Given the description of an element on the screen output the (x, y) to click on. 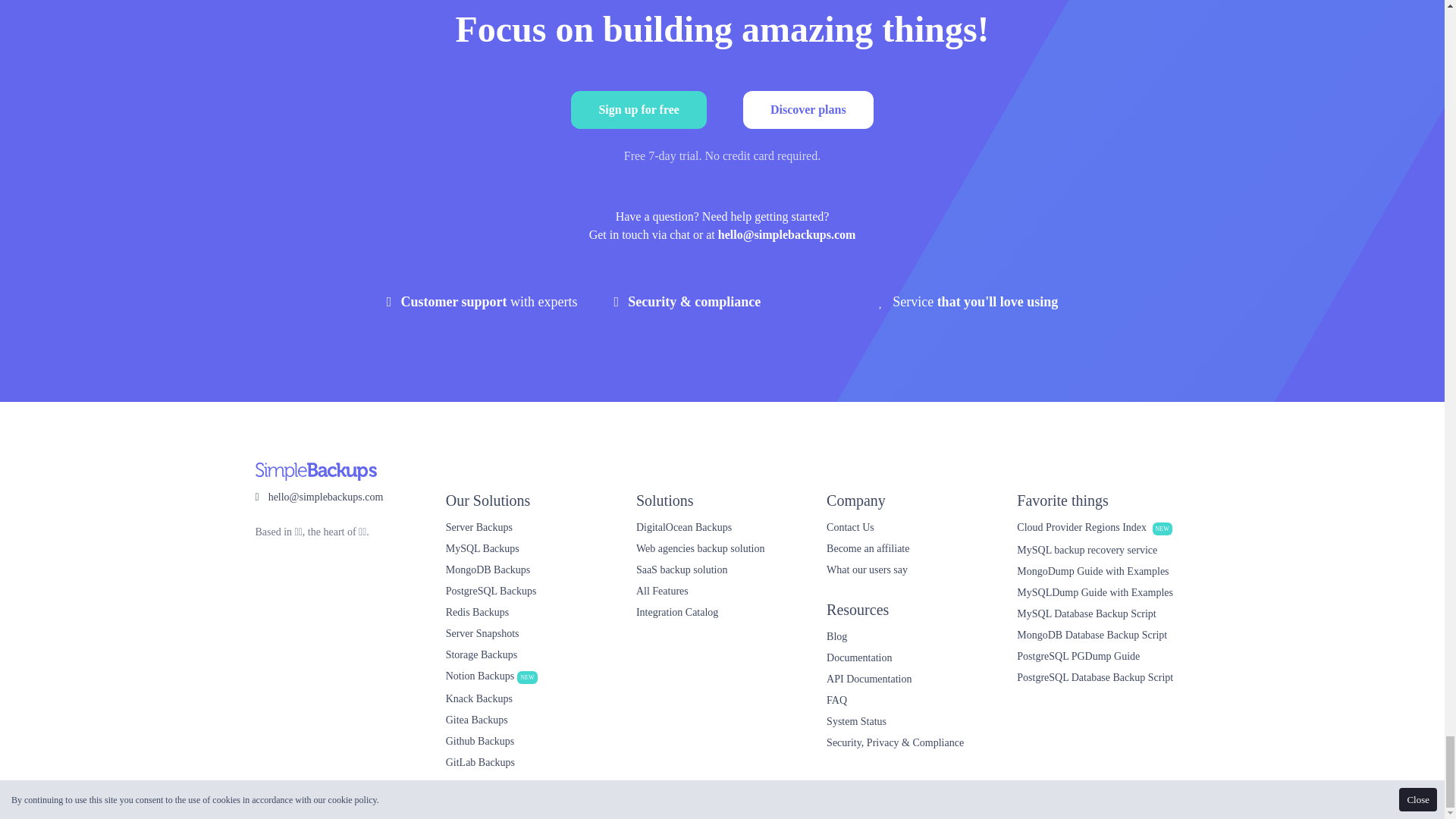
Discover plans (807, 109)
Sign up for free (638, 109)
